Given the description of an element on the screen output the (x, y) to click on. 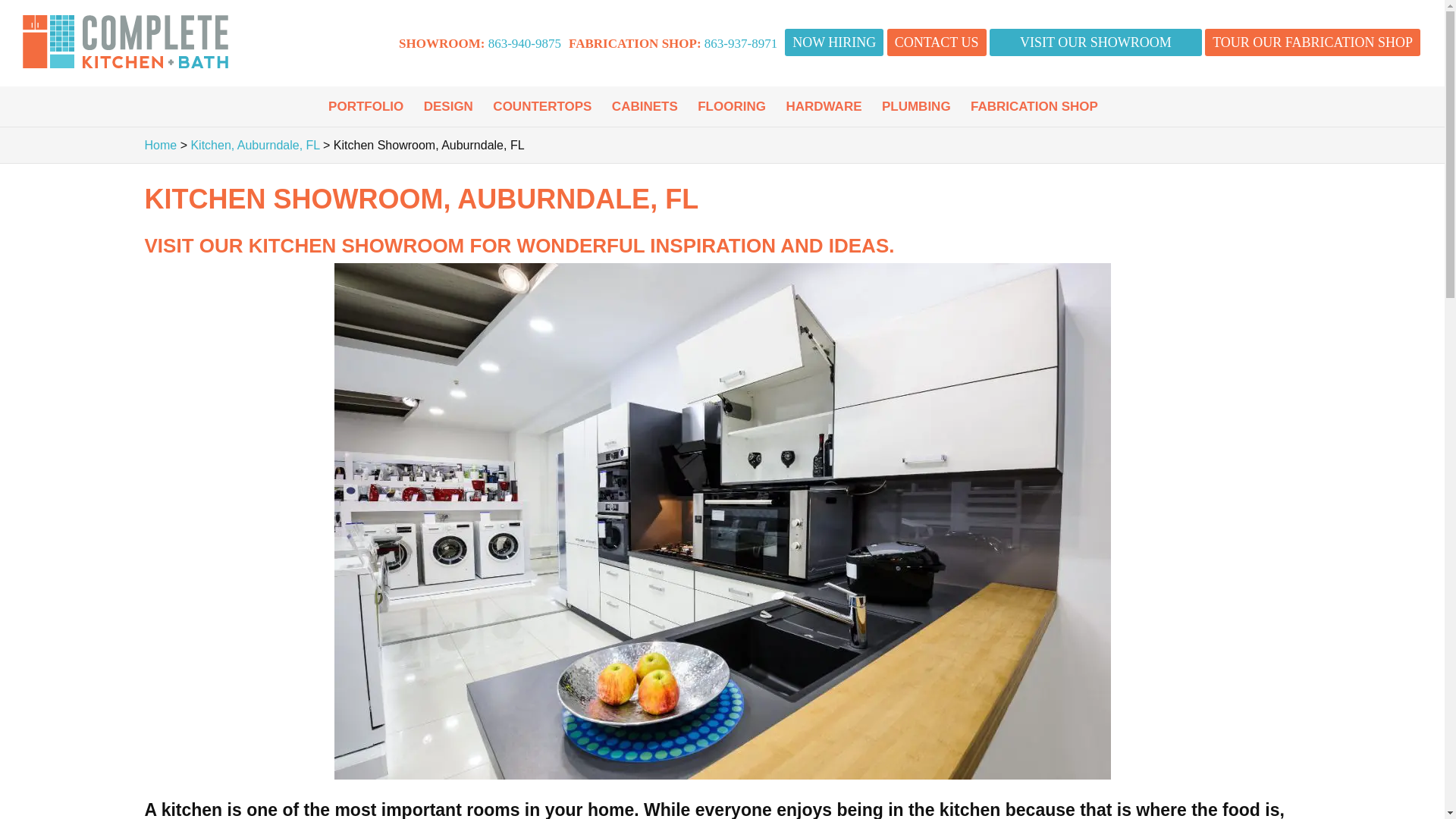
VISIT OUR SHOWROOM (1096, 42)
FLOORING (731, 106)
Home (160, 144)
NOW HIRING (833, 42)
TOUR OUR FABRICATION SHOP (1313, 42)
PLUMBING (916, 106)
FABRICATION SHOP (1034, 106)
DESIGN (448, 106)
COUNTERTOPS (542, 106)
Go to Kitchen, Auburndale, FL. (254, 144)
863-937-8971 (740, 43)
CONTACT US (936, 42)
CABINETS (644, 106)
863-940-9875 (523, 43)
HARDWARE (823, 106)
